Given the description of an element on the screen output the (x, y) to click on. 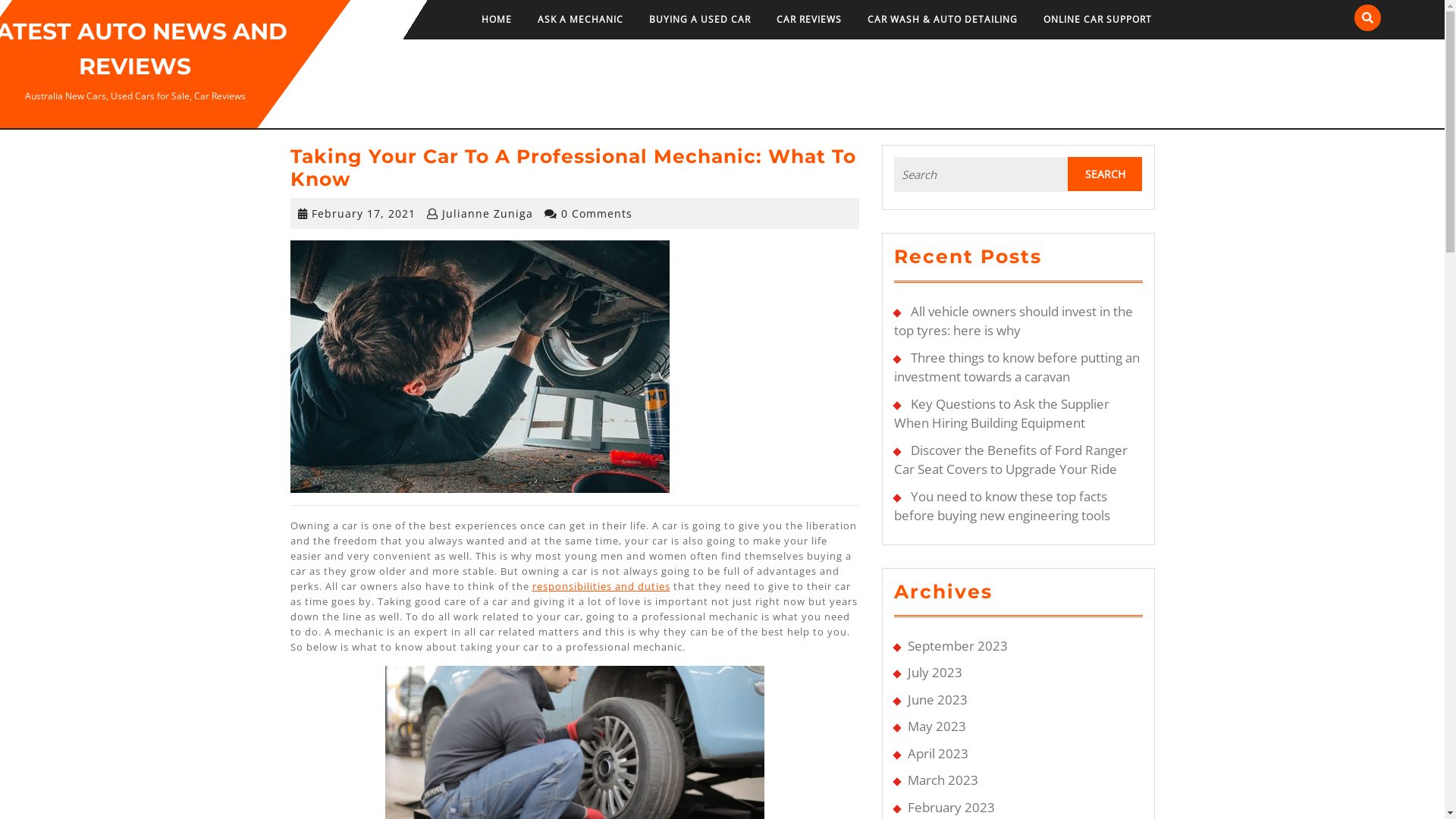
June 2023 Element type: text (936, 699)
CAR WASH & AUTO DETAILING Element type: text (942, 19)
May 2023 Element type: text (935, 725)
HOME Element type: text (496, 19)
September 2023 Element type: text (956, 645)
April 2023 Element type: text (936, 753)
responsibilities and duties Element type: text (601, 586)
March 2023 Element type: text (941, 779)
BUYING A USED CAR Element type: text (699, 19)
ASK A MECHANIC Element type: text (580, 19)
CAR REVIEWS Element type: text (809, 19)
July 2023 Element type: text (933, 671)
Search Element type: text (1104, 173)
ONLINE CAR SUPPORT Element type: text (1097, 19)
February 2023 Element type: text (950, 806)
February 17, 2021
February 17, 2021 Element type: text (362, 213)
Julianne Zuniga Element type: text (486, 213)
